Given the description of an element on the screen output the (x, y) to click on. 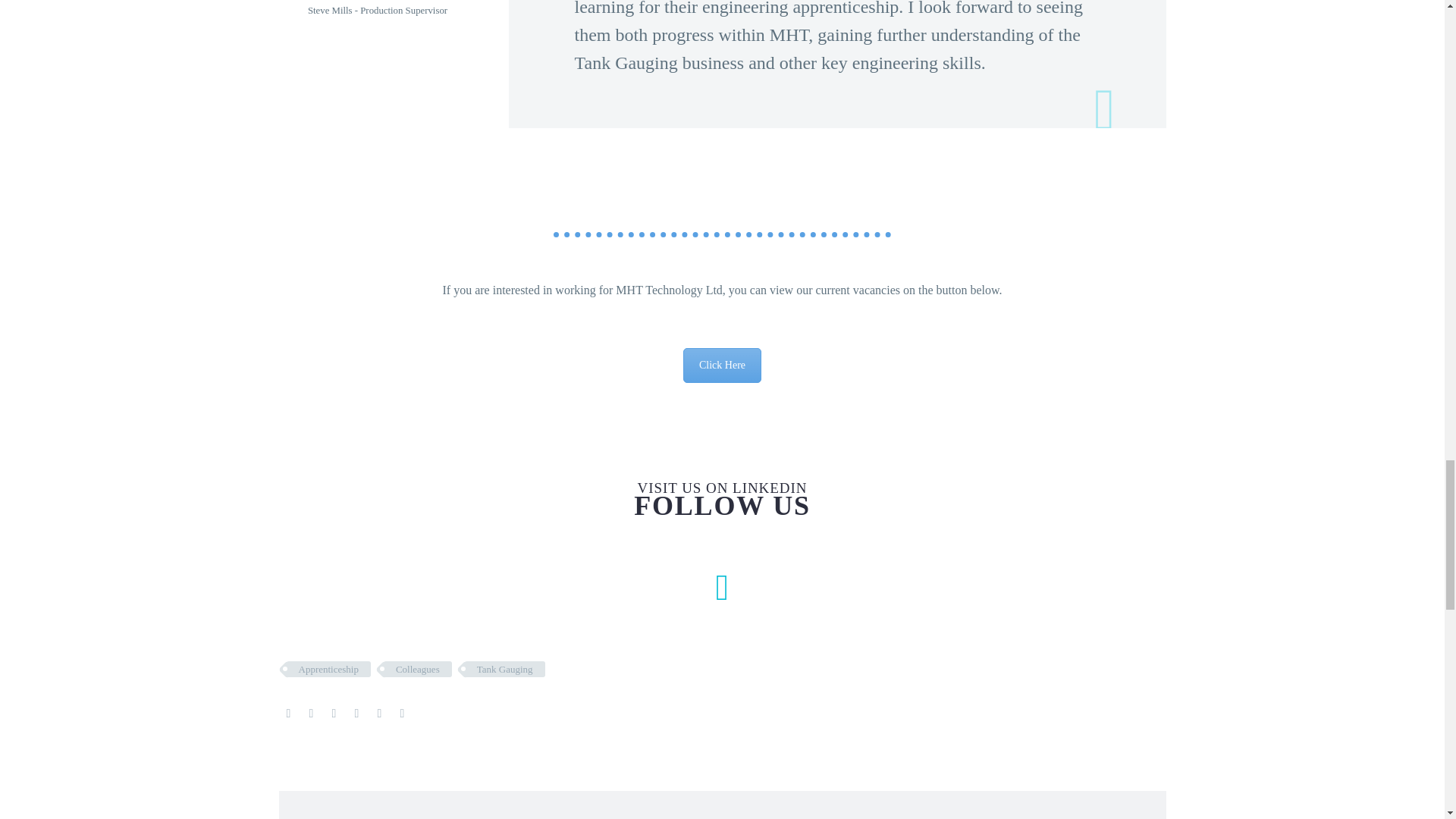
Careers page (721, 365)
Pinterest (333, 713)
Twitter (310, 713)
Facebook (288, 713)
Tumblr (356, 713)
